Given the description of an element on the screen output the (x, y) to click on. 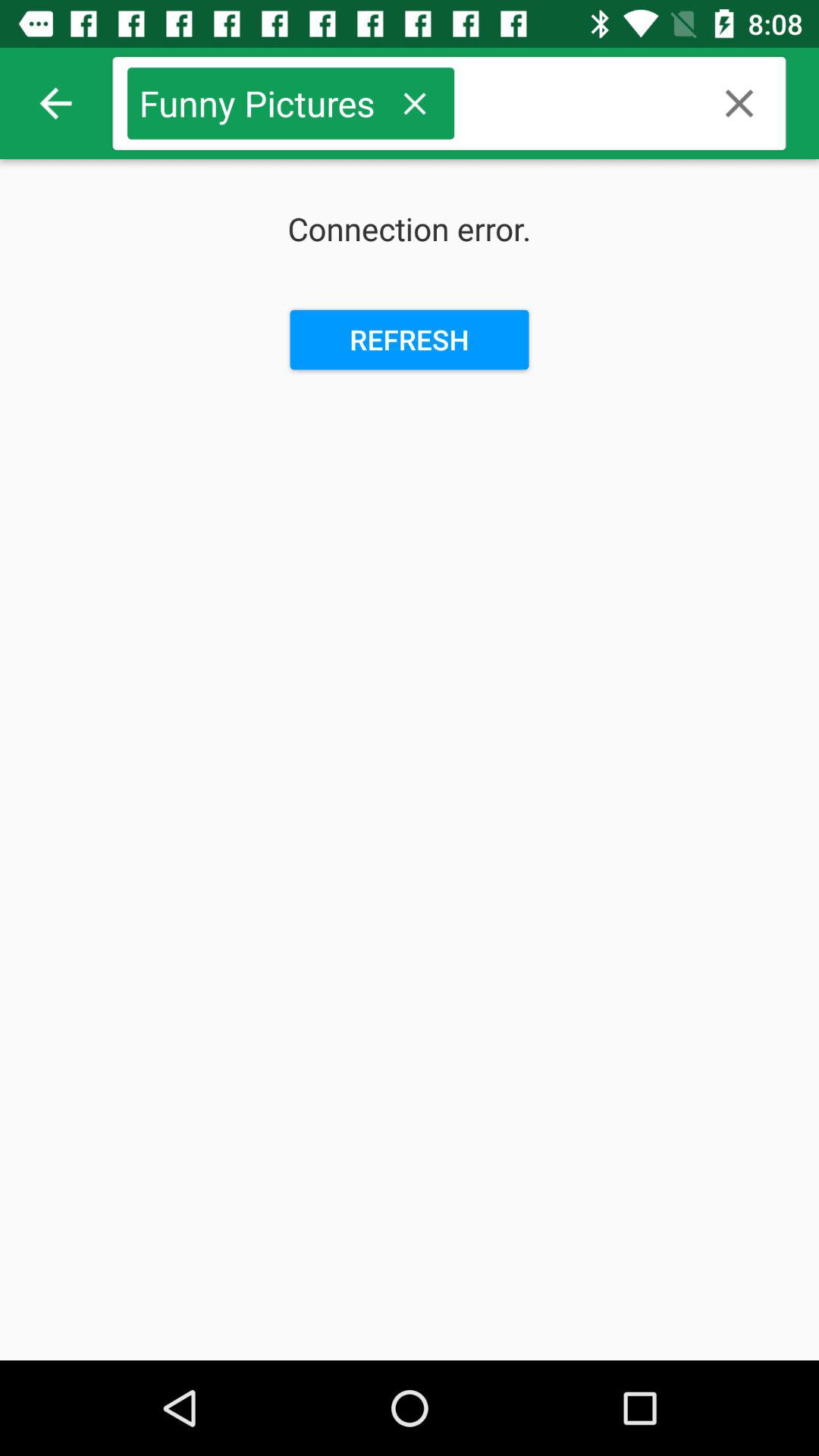
delete search selection (414, 103)
